Given the description of an element on the screen output the (x, y) to click on. 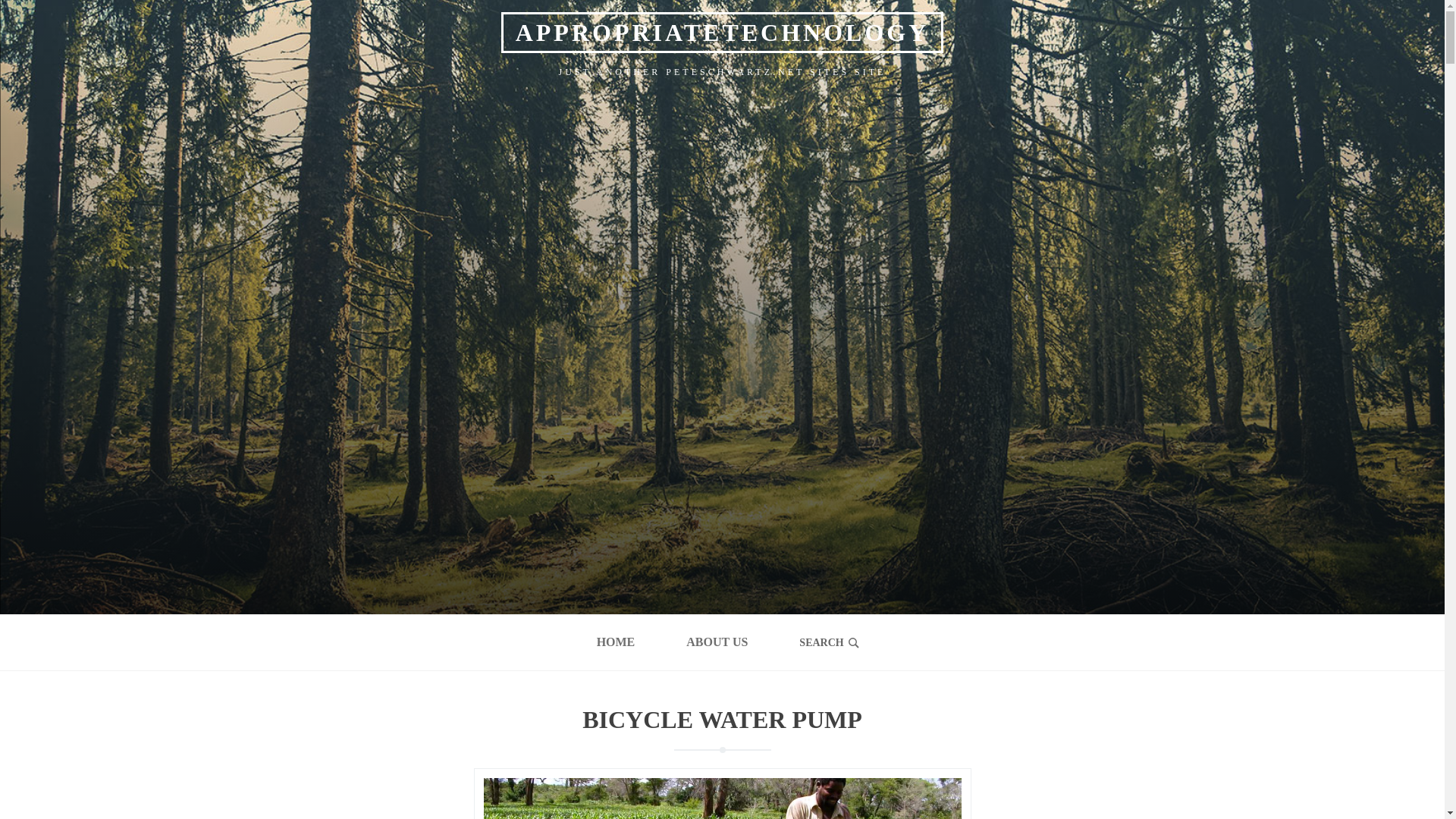
APPROPRIATETECHNOLOGY (721, 32)
Zambia farm.jpg (721, 798)
ABOUT US (716, 642)
HOME (615, 642)
